Given the description of an element on the screen output the (x, y) to click on. 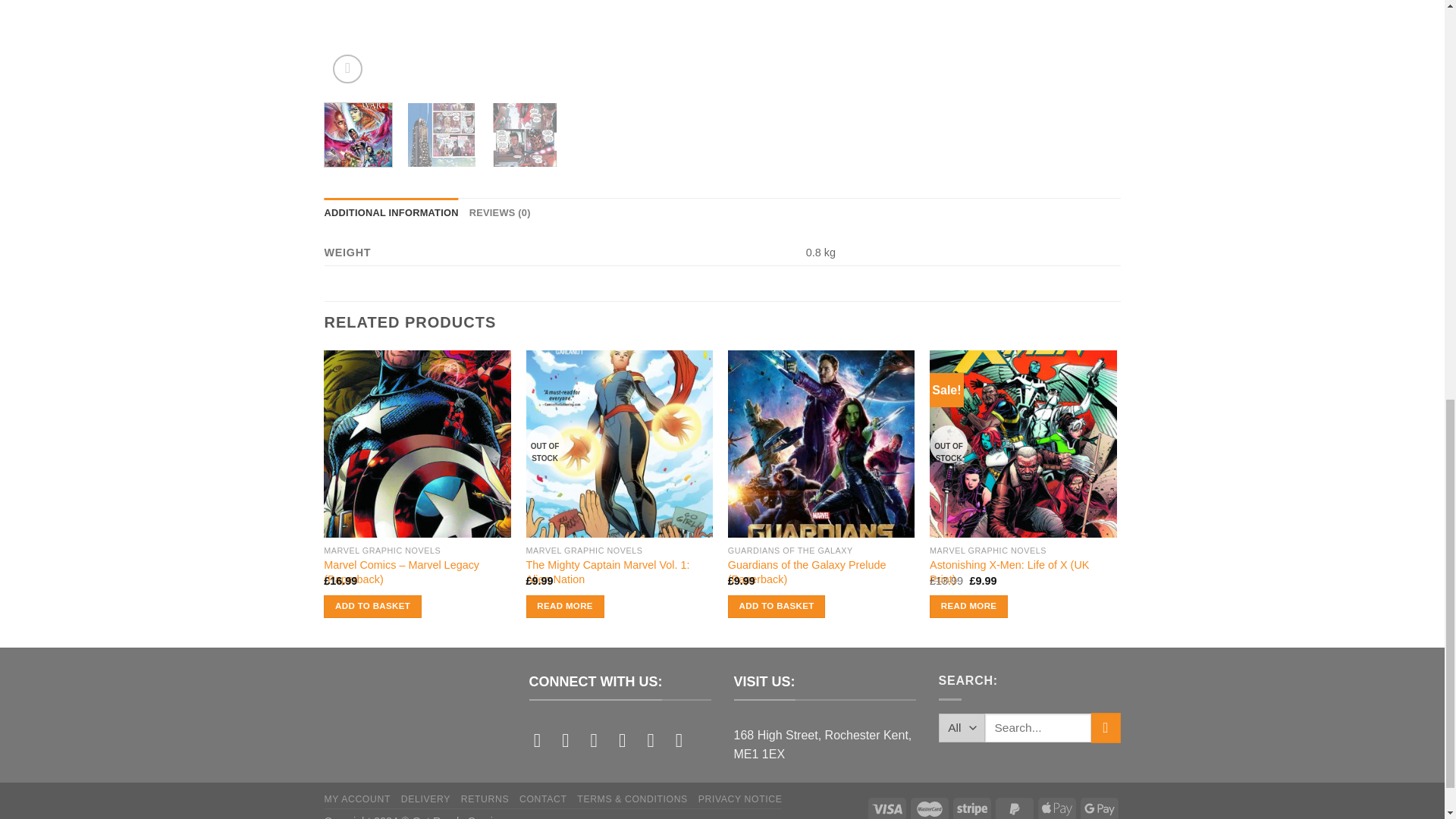
Zoom (347, 69)
